Given the description of an element on the screen output the (x, y) to click on. 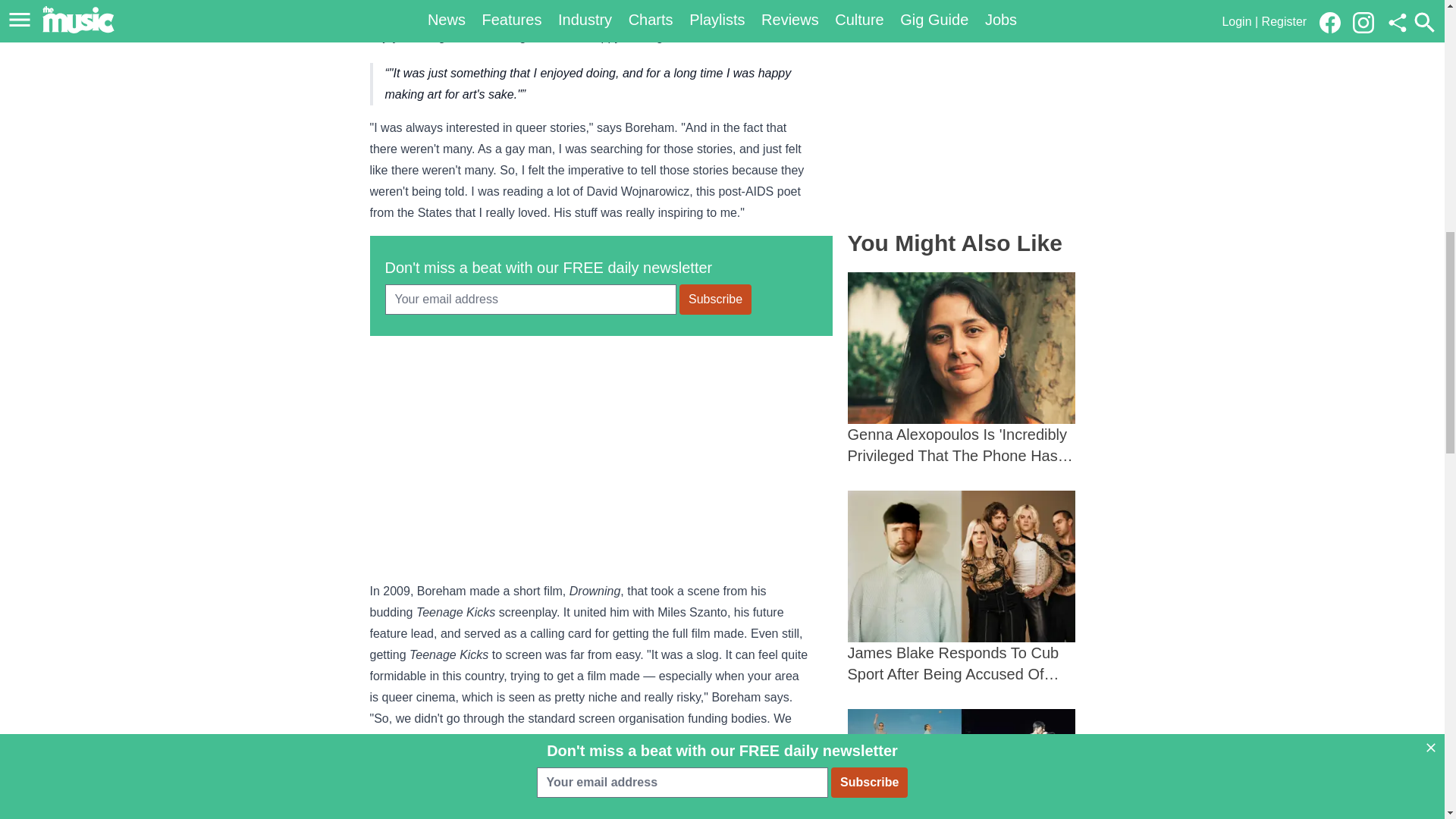
3rd party ad content (961, 107)
3rd party ad content (600, 457)
Subscribe (715, 299)
Triple M Drops '10 Greatest Songs Of All Time' List (961, 764)
